Given the description of an element on the screen output the (x, y) to click on. 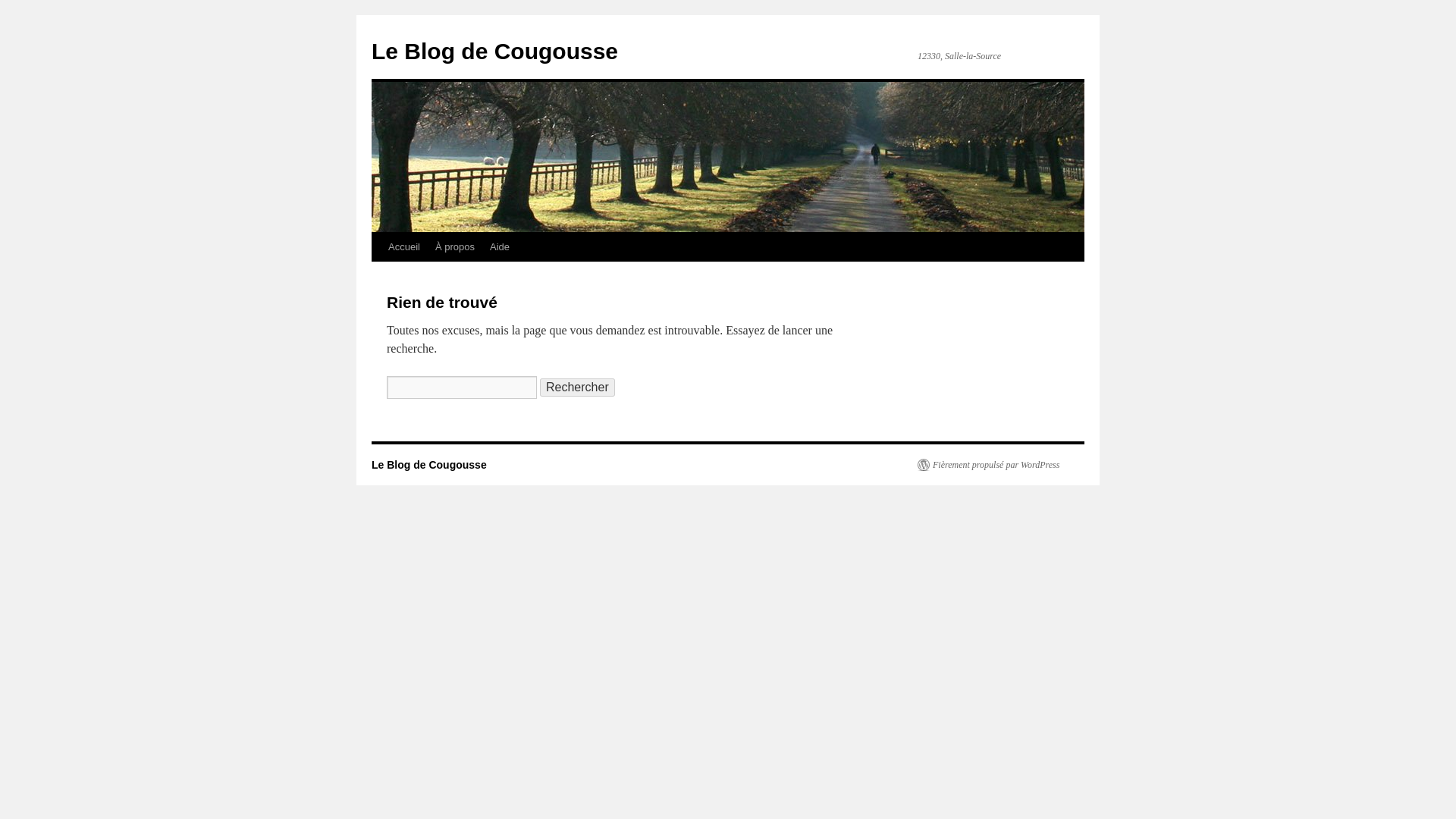
Rechercher (577, 387)
Le Blog de Cougousse (494, 50)
Aide (498, 246)
Rechercher (577, 387)
Le Blog de Cougousse (494, 50)
Accueil (404, 246)
